Given the description of an element on the screen output the (x, y) to click on. 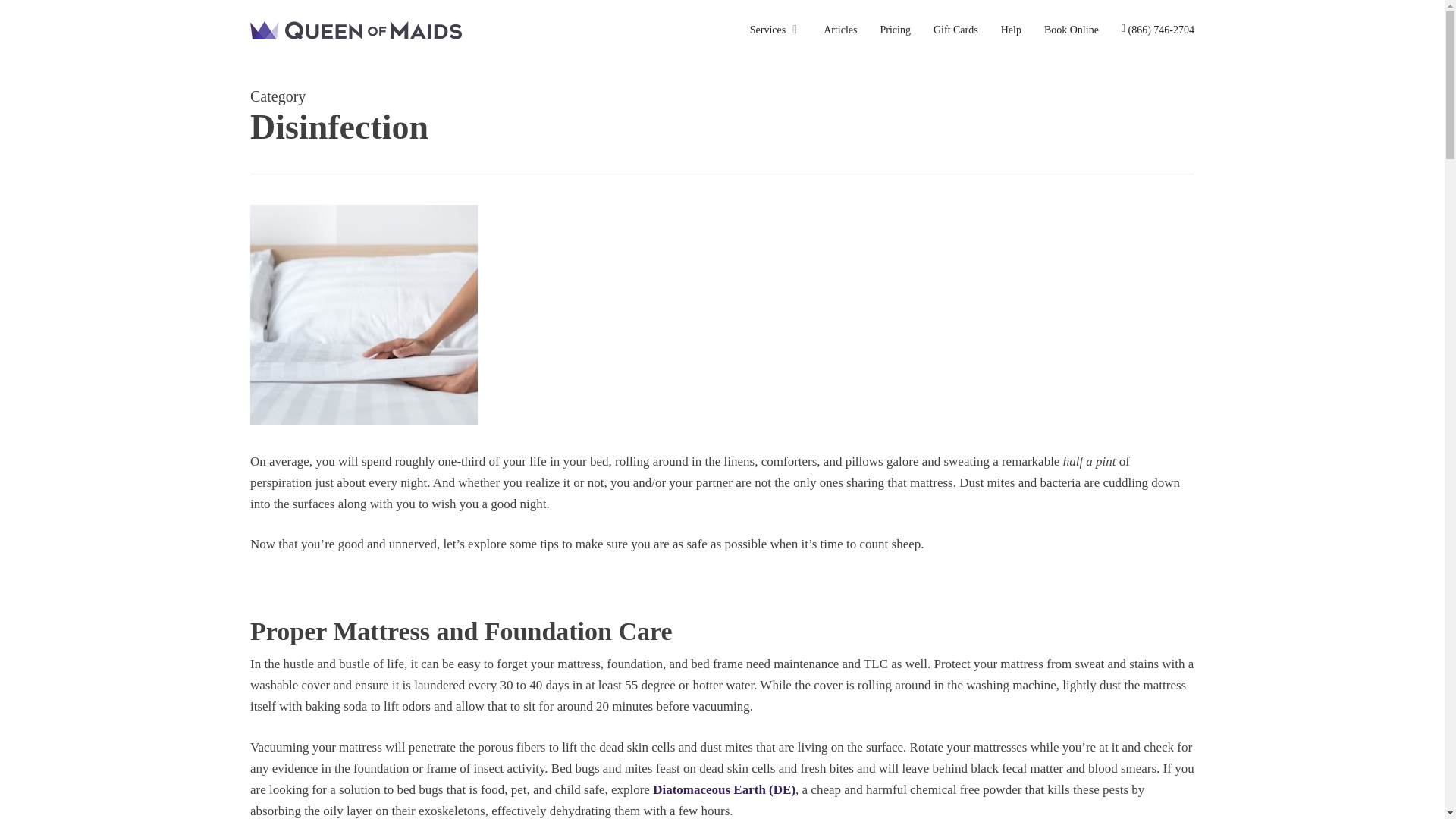
Articles (840, 29)
Gift Cards (955, 29)
Book Online (1071, 29)
Help (1011, 29)
Pricing (895, 29)
Services (774, 29)
